Given the description of an element on the screen output the (x, y) to click on. 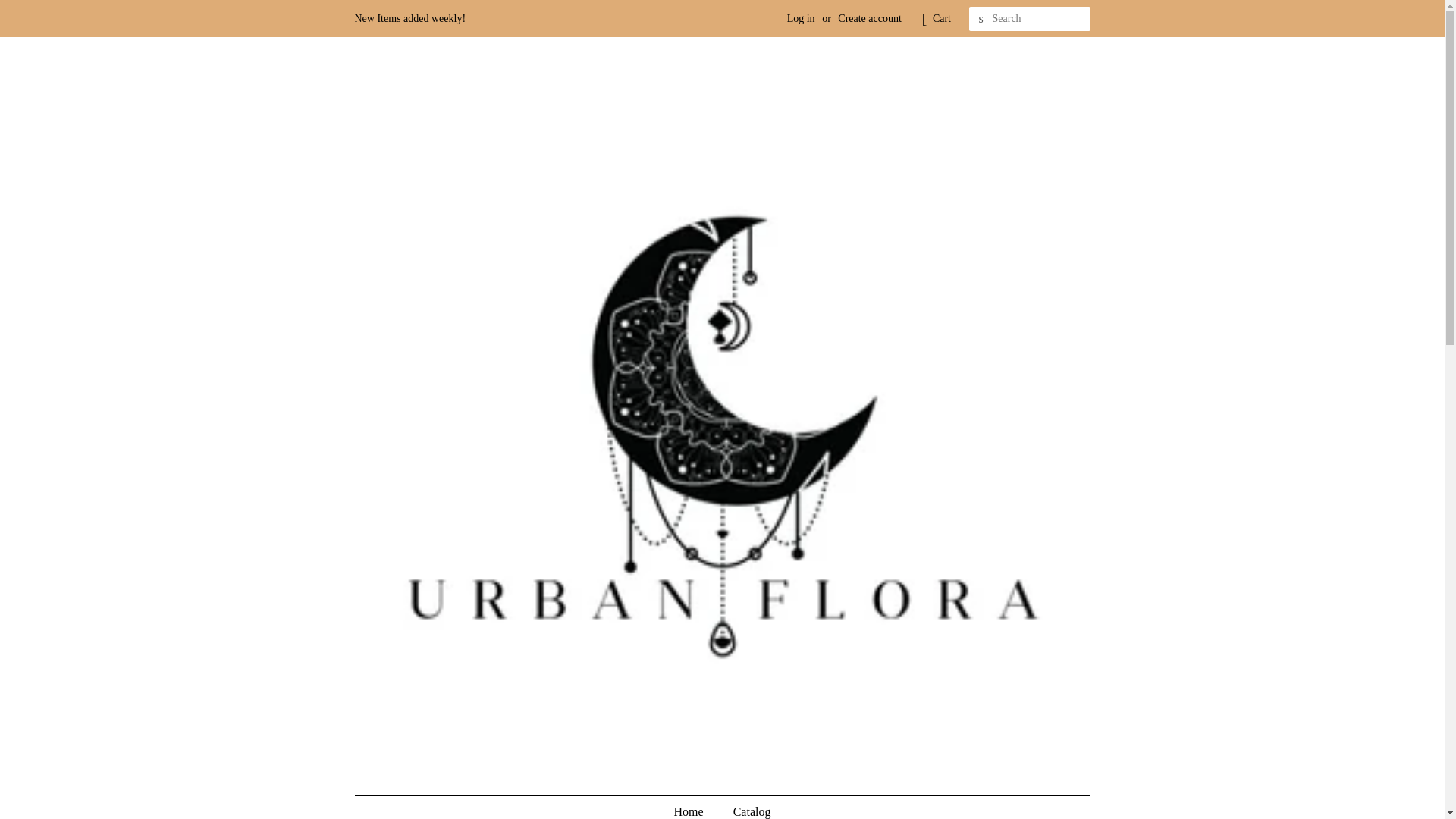
Log in (801, 18)
Cart (941, 18)
Home (696, 807)
Search (980, 18)
Create account (869, 18)
Catalog (746, 807)
